Given the description of an element on the screen output the (x, y) to click on. 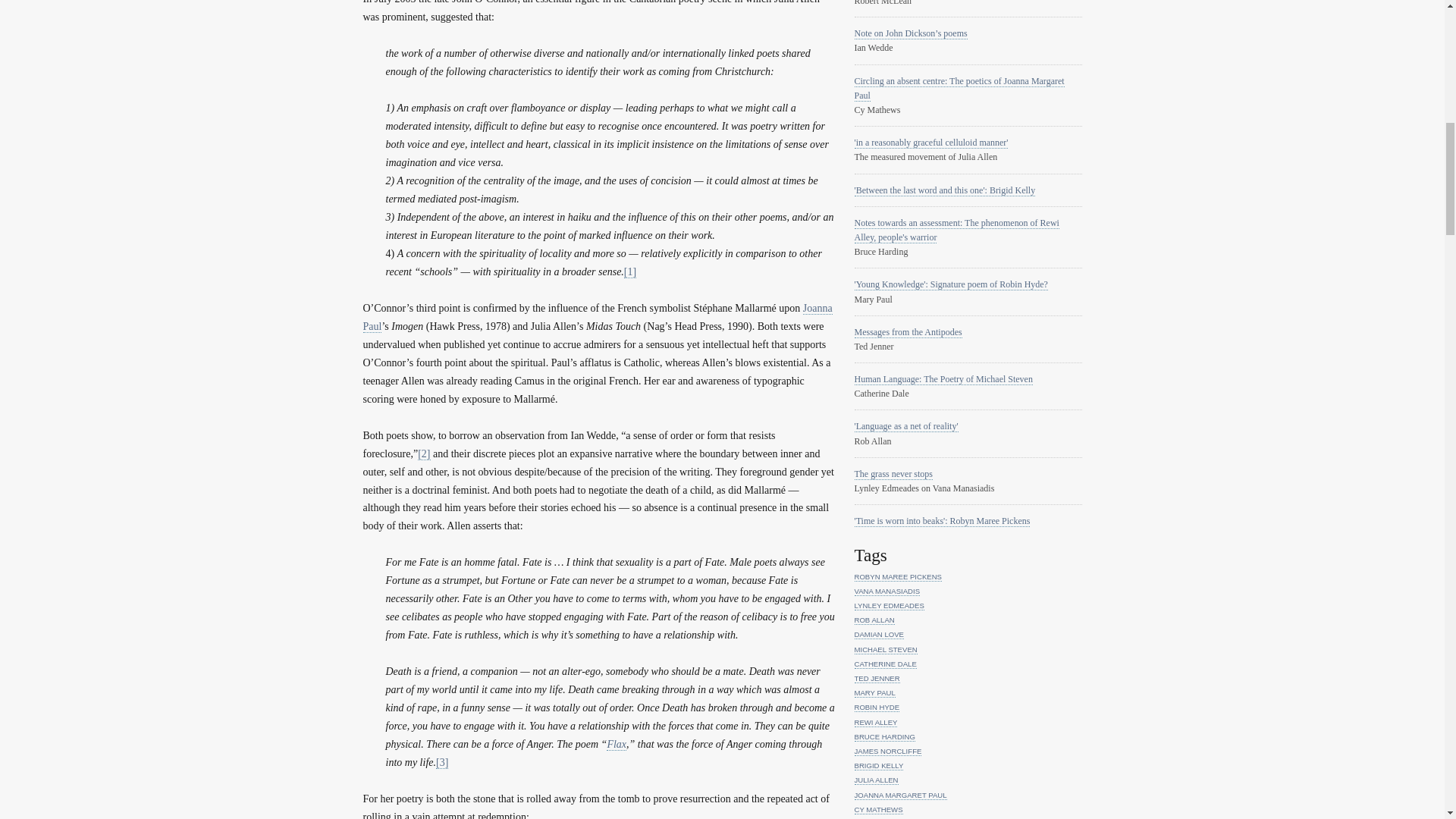
Flax (616, 744)
'Between the last word and this one': Brigid Kelly (944, 190)
Human Language: The Poetry of Michael Steven (942, 378)
'Young Knowledge': Signature poem of Robin Hyde? (949, 284)
Joanna Paul (596, 317)
Messages from the Antipodes (906, 332)
'in a reasonably graceful celluloid manner' (930, 142)
